Given the description of an element on the screen output the (x, y) to click on. 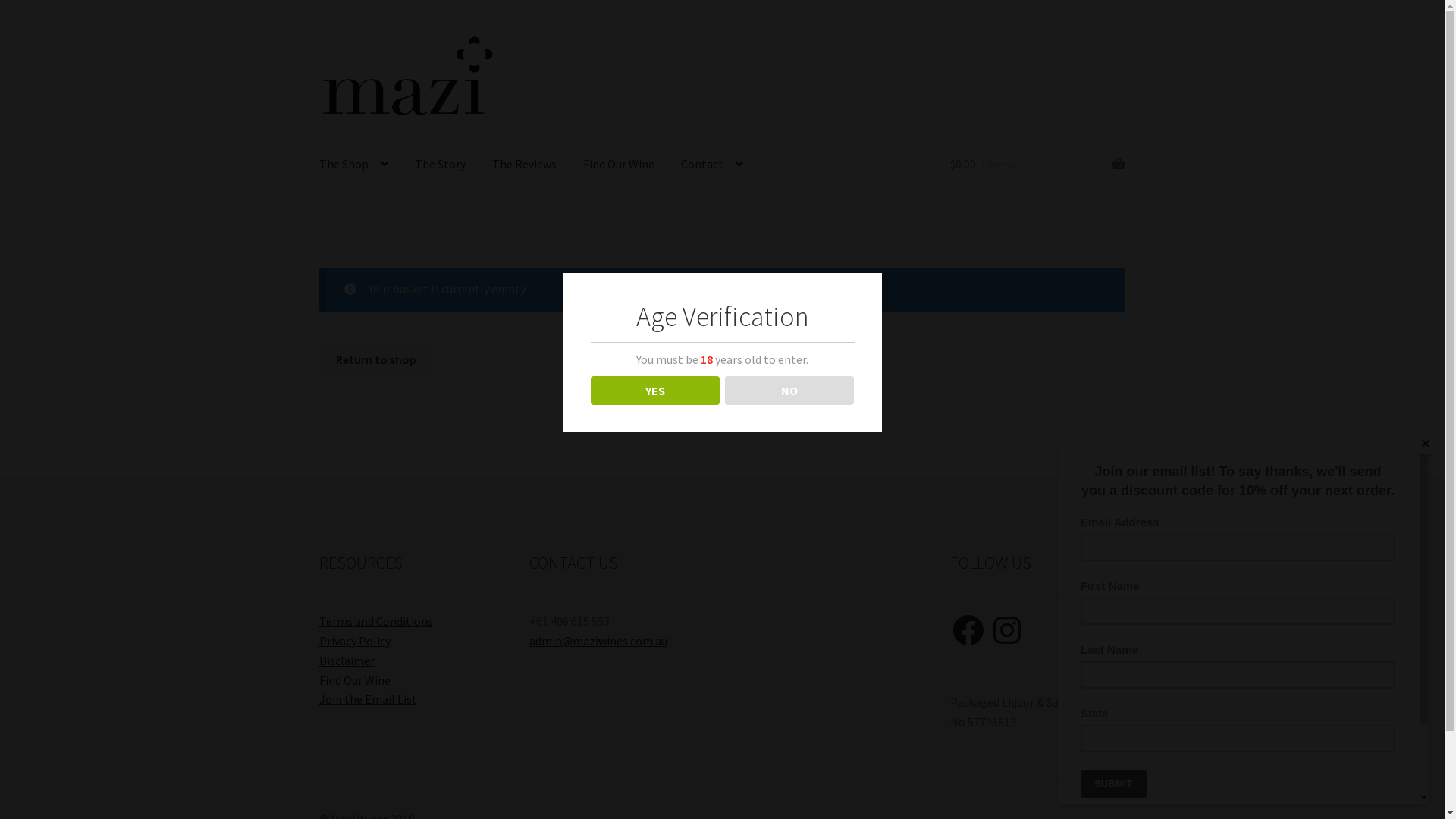
Return to shop Element type: text (376, 359)
$0.00 0 items Element type: text (1037, 164)
Join the Email List Element type: text (368, 698)
Find Our Wine Element type: text (618, 164)
admin@maziwines.com.au Element type: text (598, 640)
The Shop Element type: text (353, 164)
NO Element type: text (789, 390)
Facebook Element type: text (968, 629)
The Story Element type: text (439, 164)
YES Element type: text (655, 390)
The Reviews Element type: text (524, 164)
Find Our Wine Element type: text (354, 679)
Contact Element type: text (711, 164)
Skip to navigation Element type: text (318, 31)
Disclaimer Element type: text (346, 660)
Terms and Conditions Element type: text (376, 620)
Privacy Policy Element type: text (354, 640)
Instagram Element type: text (1006, 629)
